Given the description of an element on the screen output the (x, y) to click on. 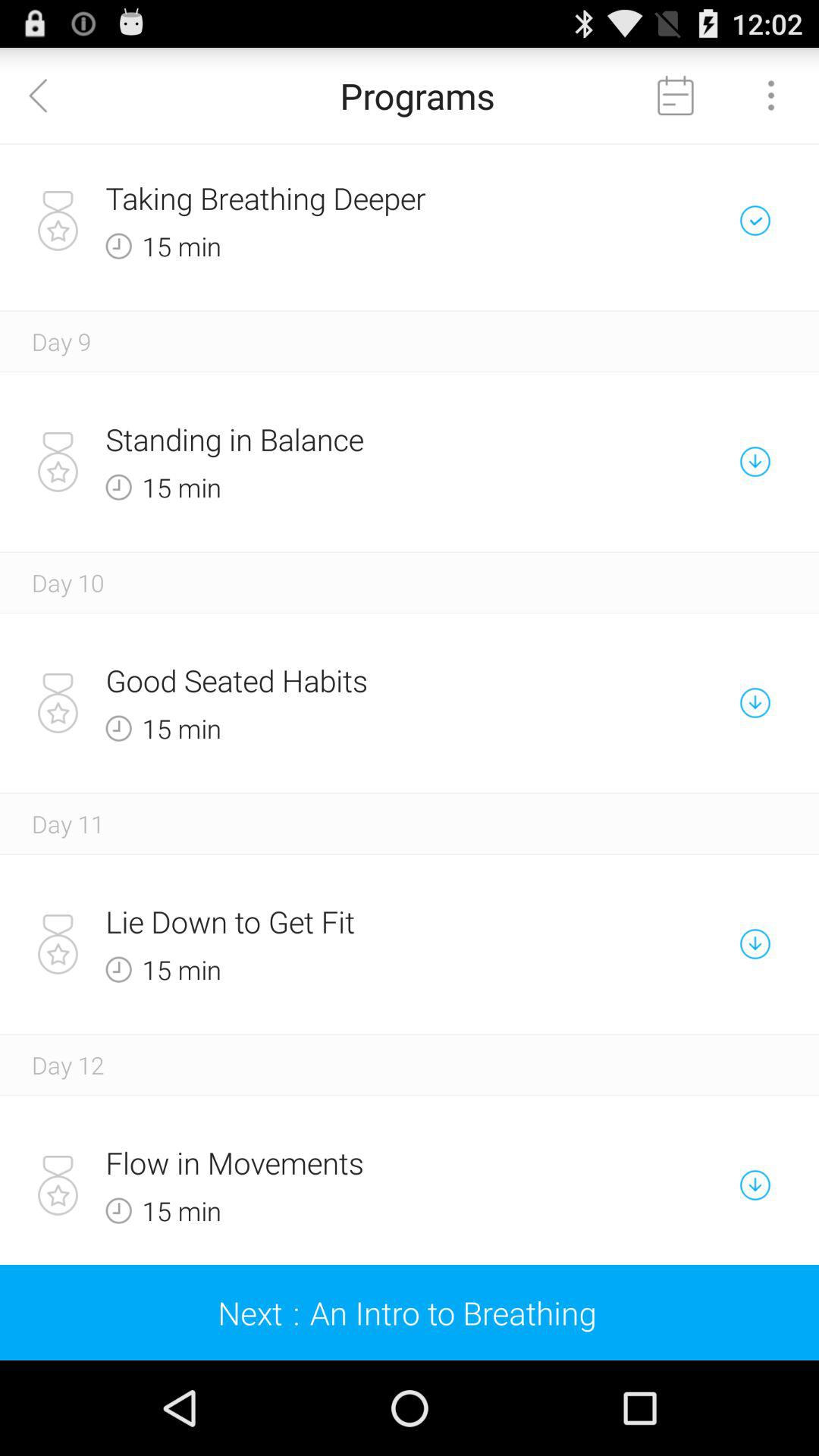
swipe until day 11 item (67, 823)
